Given the description of an element on the screen output the (x, y) to click on. 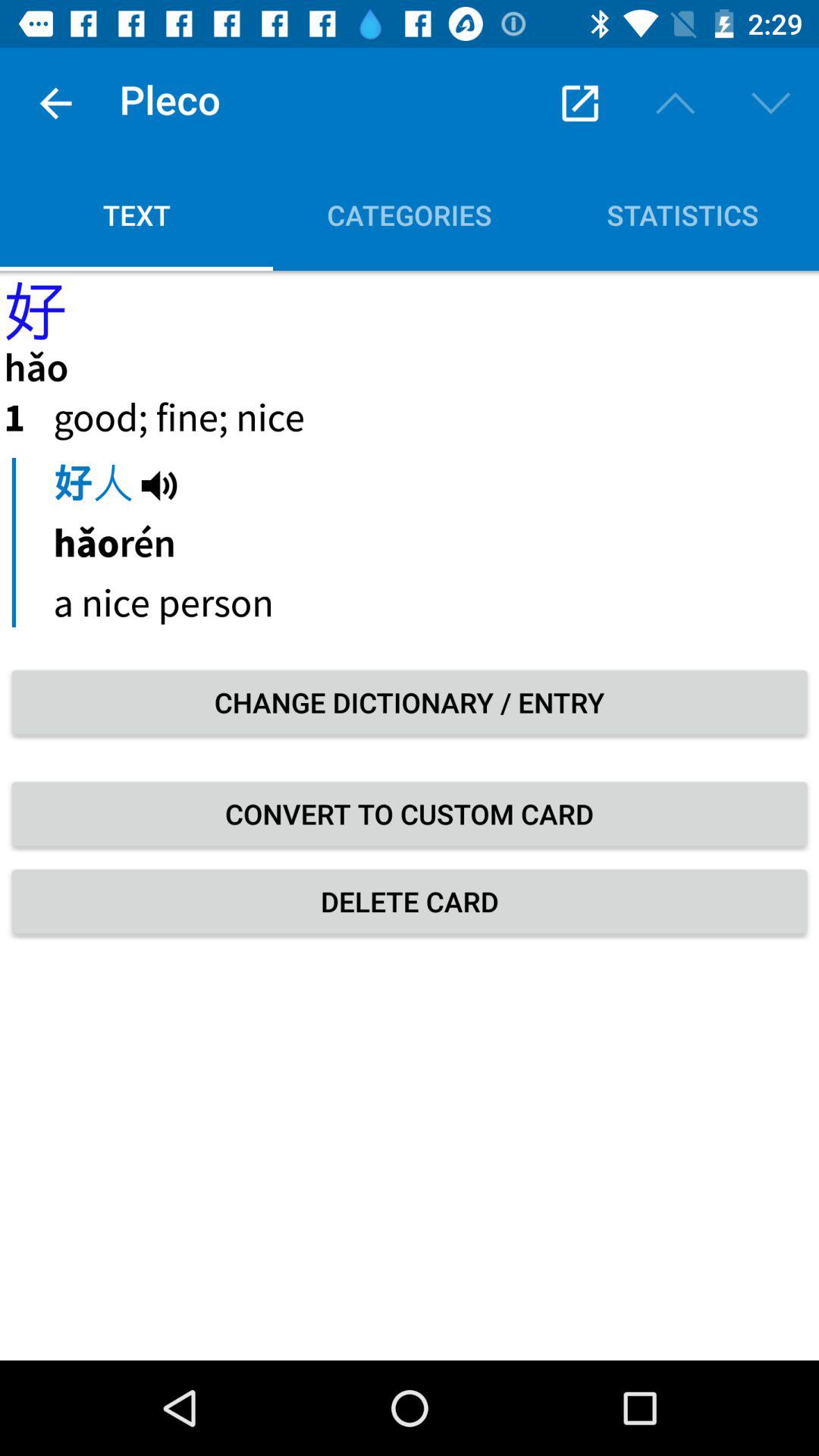
tap icon next to the categories icon (136, 214)
